Given the description of an element on the screen output the (x, y) to click on. 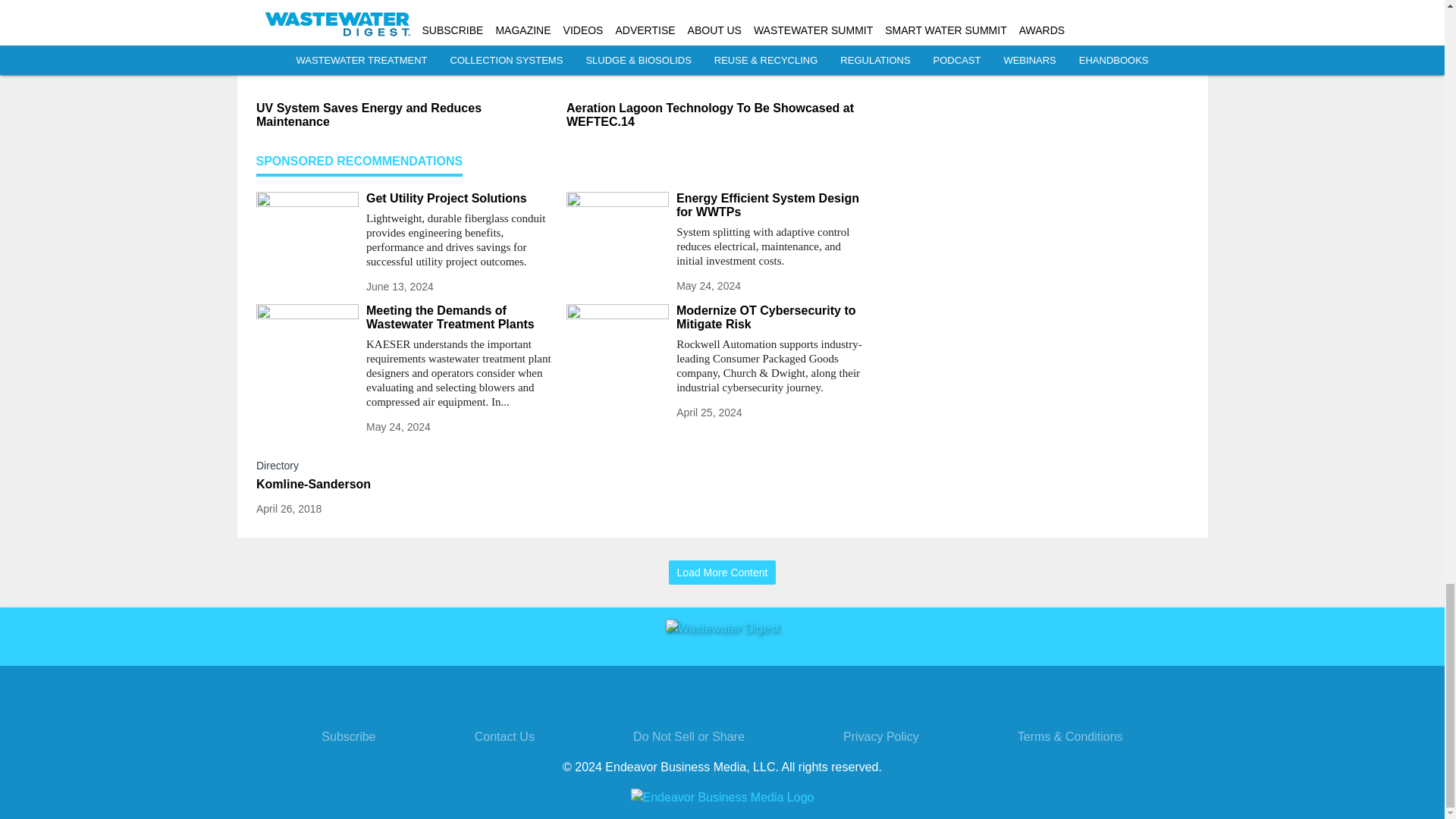
Aeration Lagoon Technology To Be Showcased at WEFTEC.14 (715, 114)
Meeting the Demands of Wastewater Treatment Plants (459, 317)
Energy Efficient System Design for WWTPs (770, 205)
UV System Saves Energy and Reduces Maintenance (405, 114)
Get Utility Project Solutions (459, 198)
Modernize OT Cybersecurity to Mitigate Risk (770, 317)
